Given the description of an element on the screen output the (x, y) to click on. 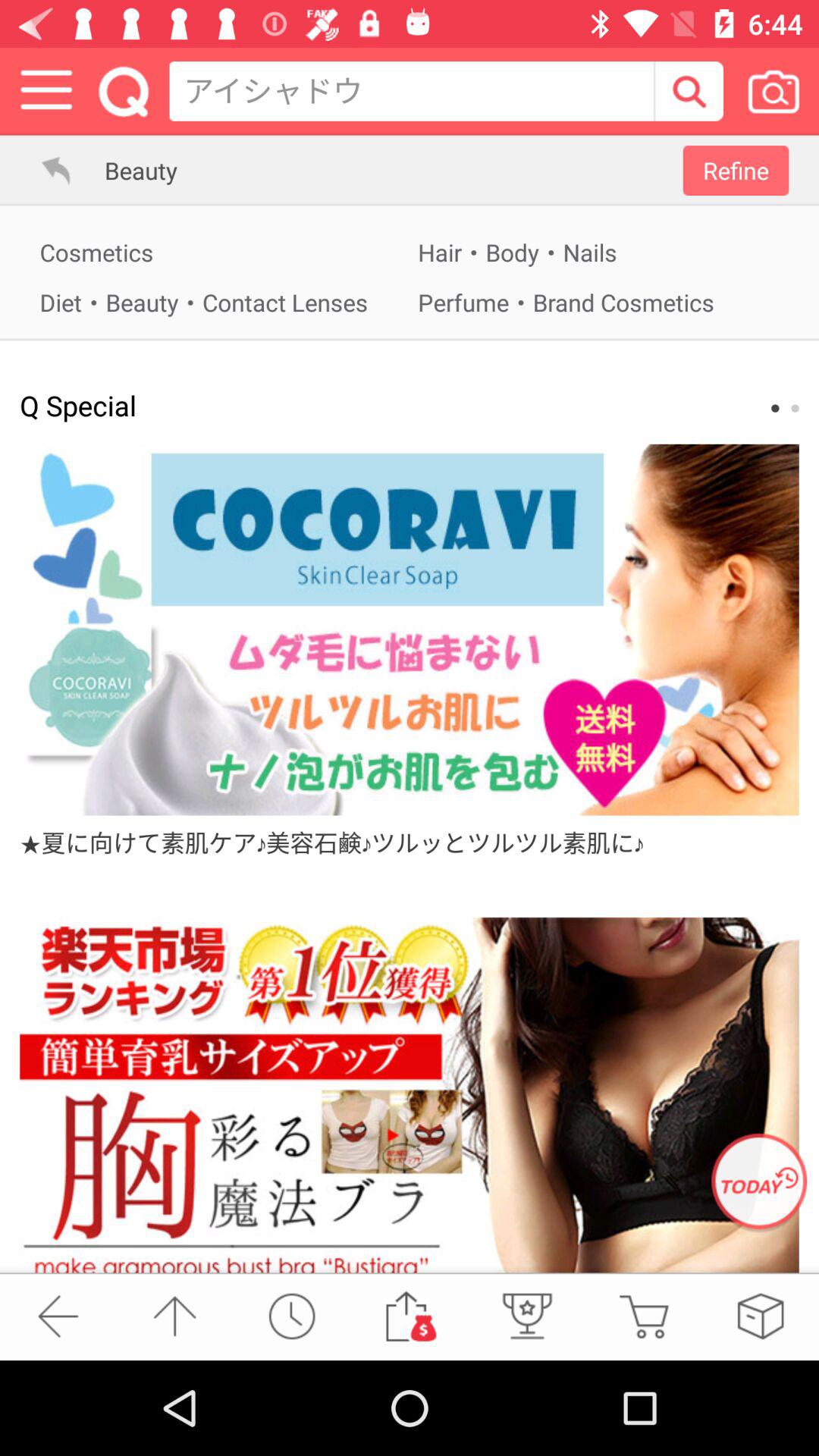
refresh option (759, 1183)
